Given the description of an element on the screen output the (x, y) to click on. 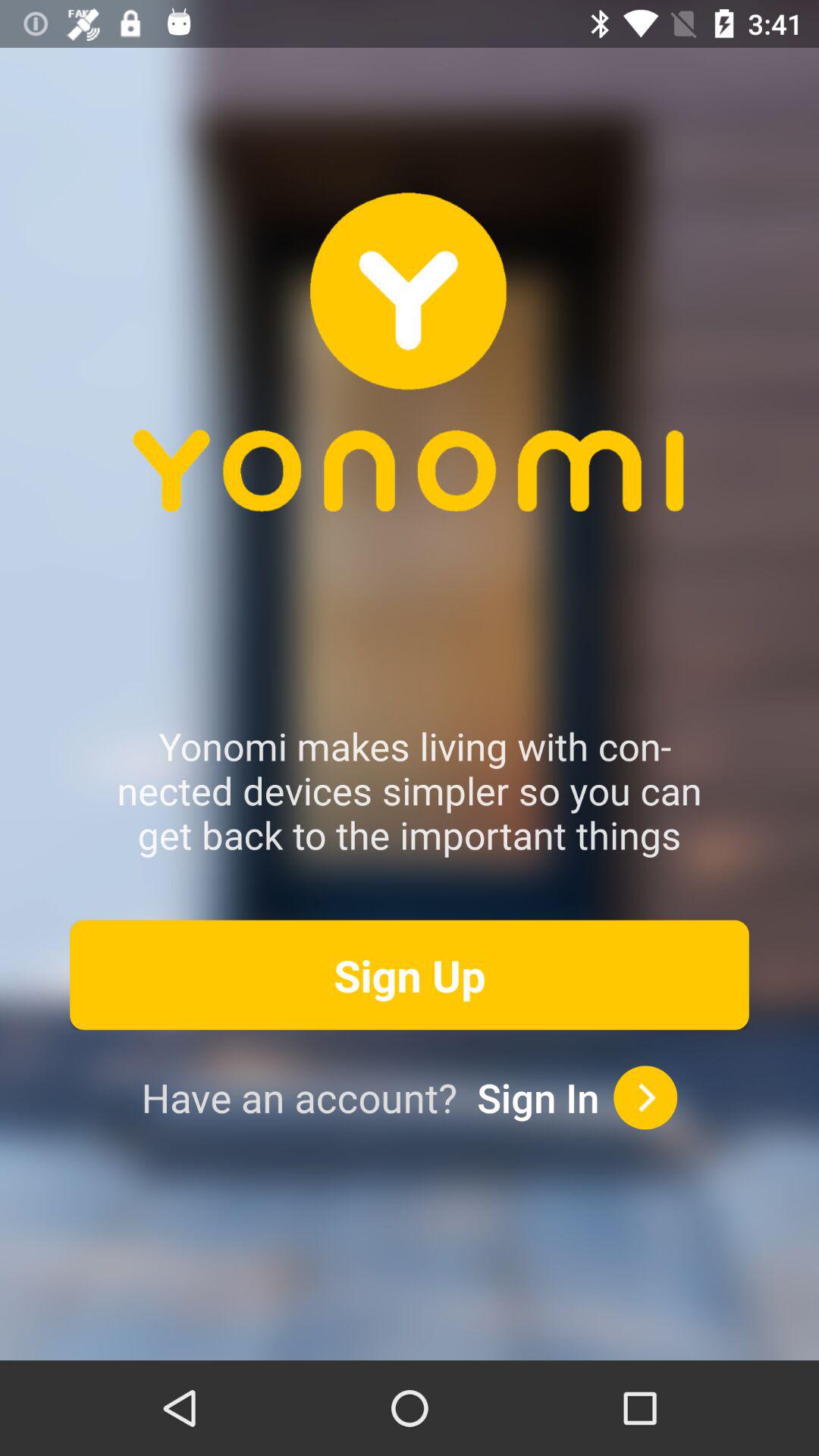
forward (645, 1097)
